Given the description of an element on the screen output the (x, y) to click on. 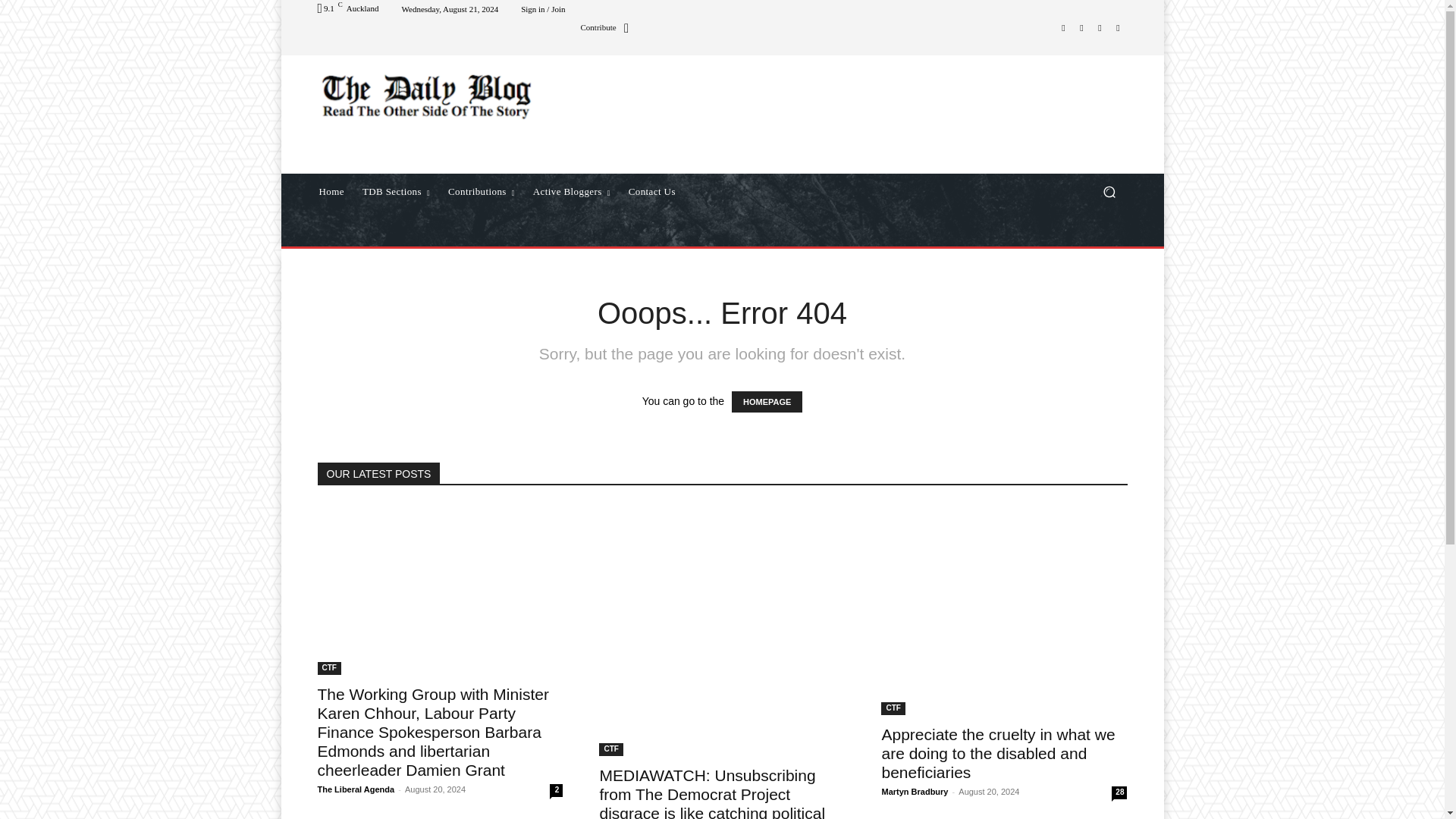
Youtube (1117, 27)
Active Bloggers (572, 191)
Contact Us (652, 191)
TDB Sections (396, 191)
Instagram (1080, 27)
Facebook (1062, 27)
